Given the description of an element on the screen output the (x, y) to click on. 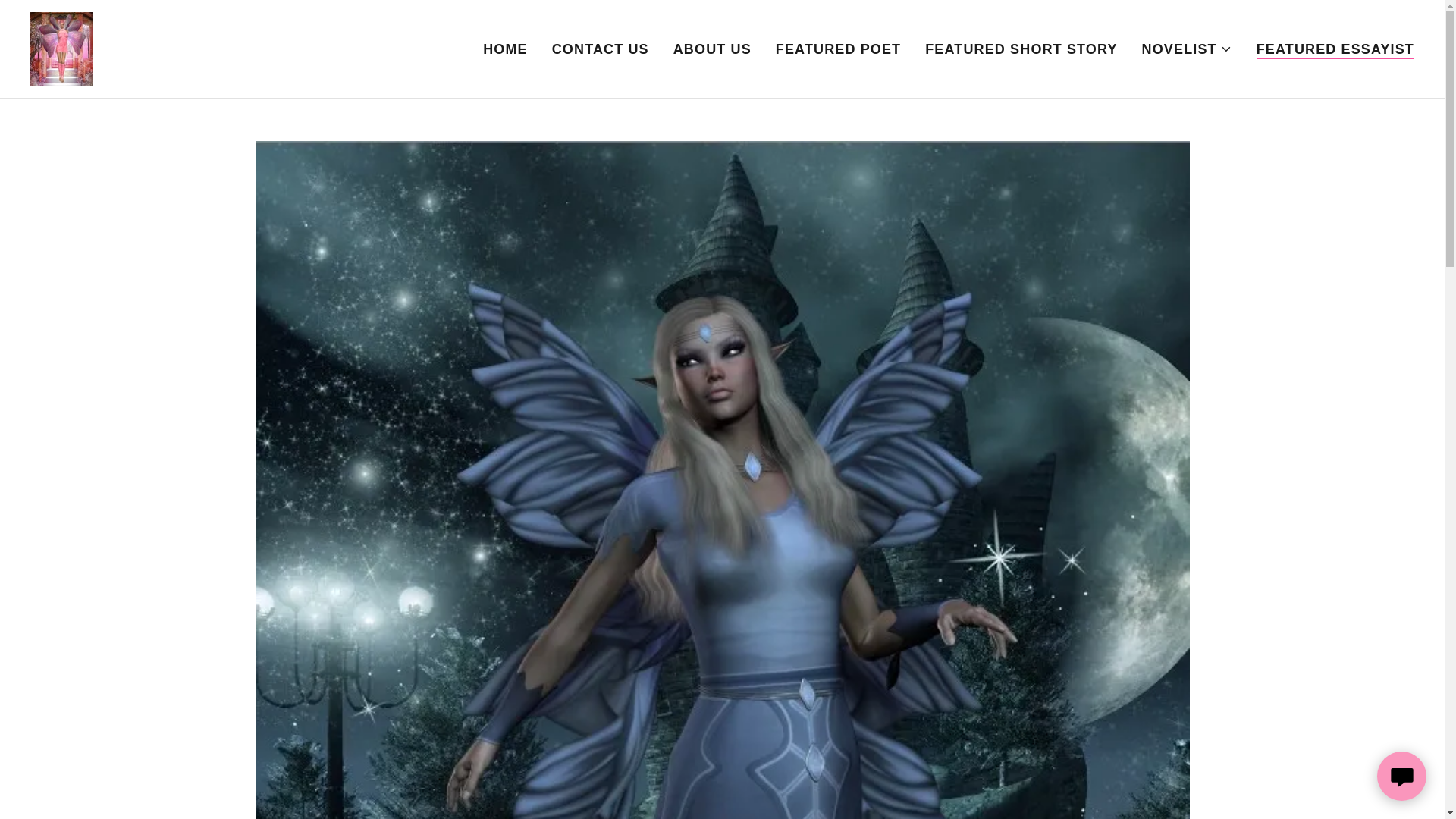
FEATURED POET (838, 48)
FEATURED ESSAYIST (1334, 48)
CONTACT US (600, 48)
ABOUT US (711, 48)
FEATURED SHORT STORY (1020, 48)
HOME (505, 48)
NOVELIST (1186, 48)
